Given the description of an element on the screen output the (x, y) to click on. 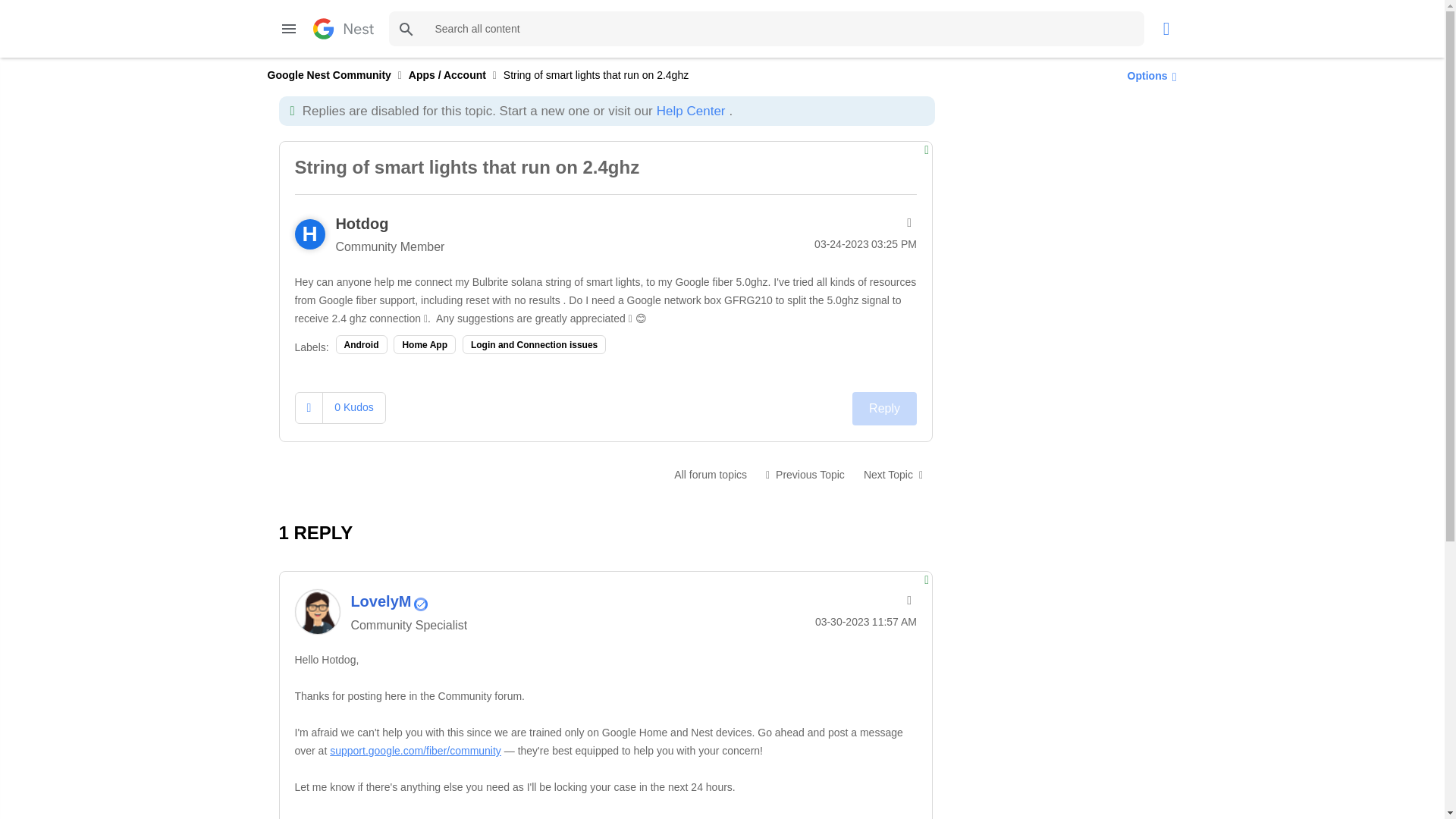
Search (405, 29)
Search (405, 29)
Schedules on Family WiFi keep disabling (804, 474)
Home App (424, 343)
Help Center (690, 110)
Search (405, 29)
Community Specialist (420, 603)
Hotdog (361, 223)
Options (1147, 75)
